Given the description of an element on the screen output the (x, y) to click on. 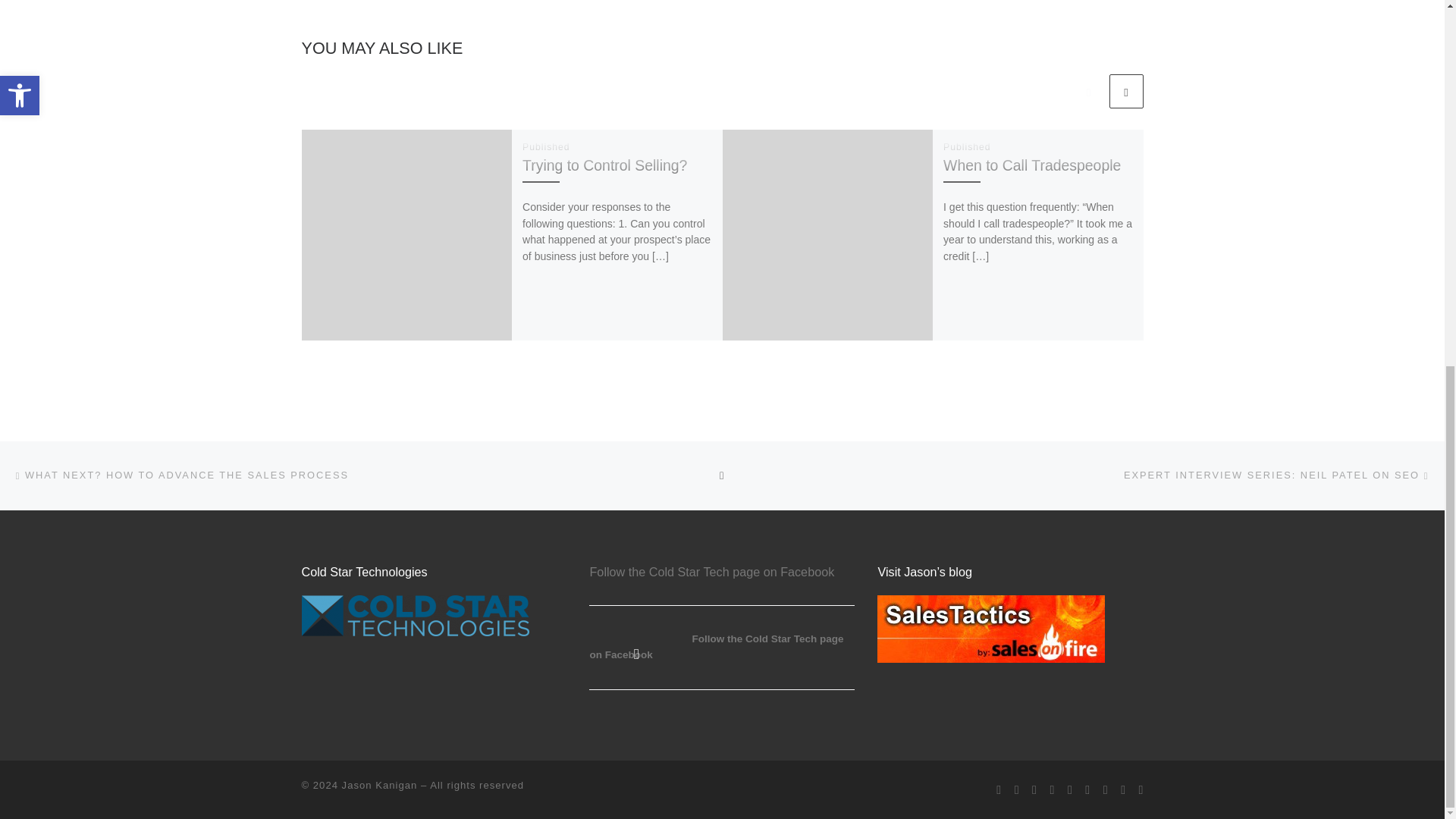
Next related articles (1125, 91)
Trying to Control Selling? (604, 165)
When to Call Tradespeople (1032, 165)
Previous related articles (1088, 91)
